Given the description of an element on the screen output the (x, y) to click on. 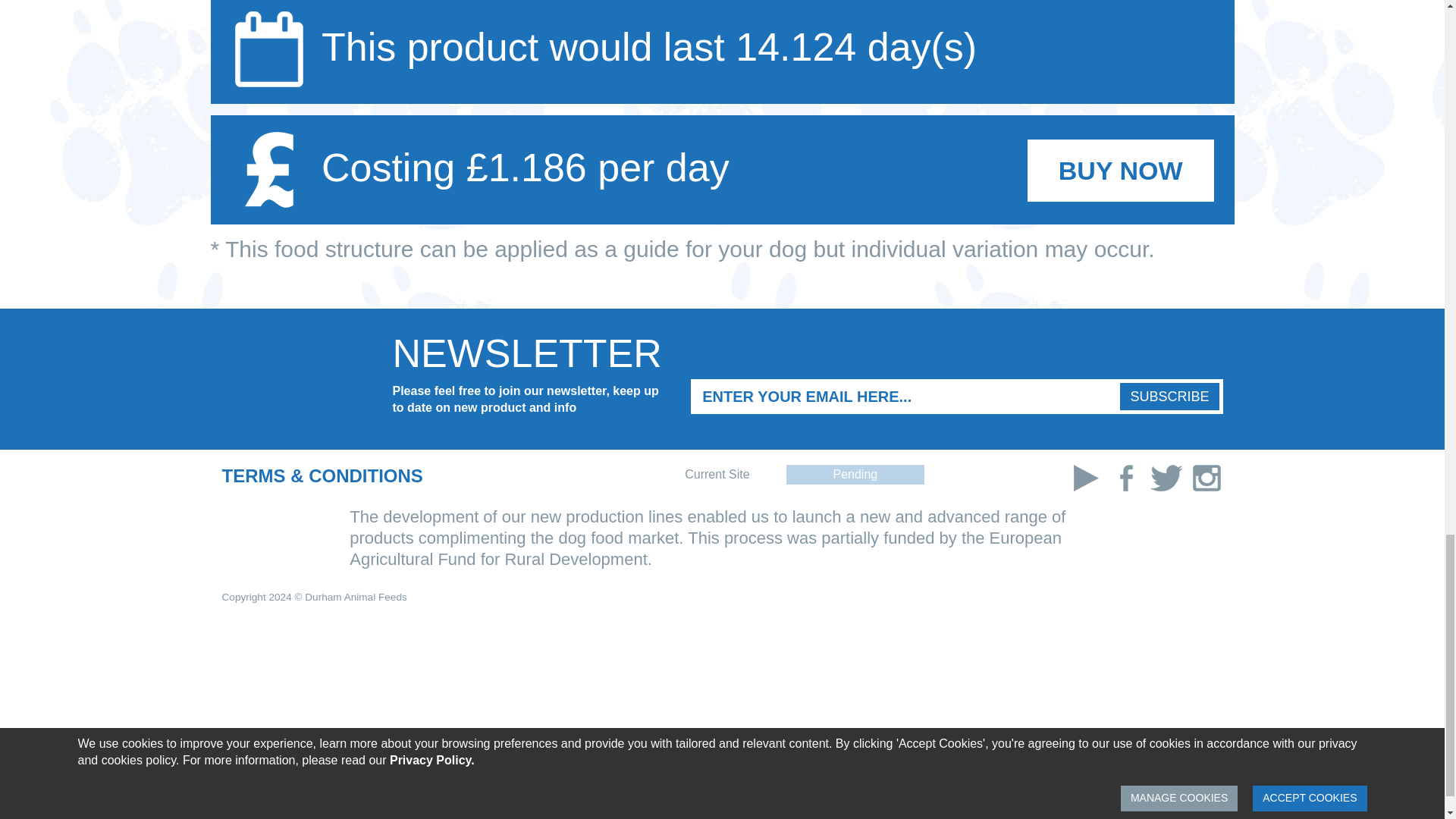
Subscribe (1168, 396)
